Given the description of an element on the screen output the (x, y) to click on. 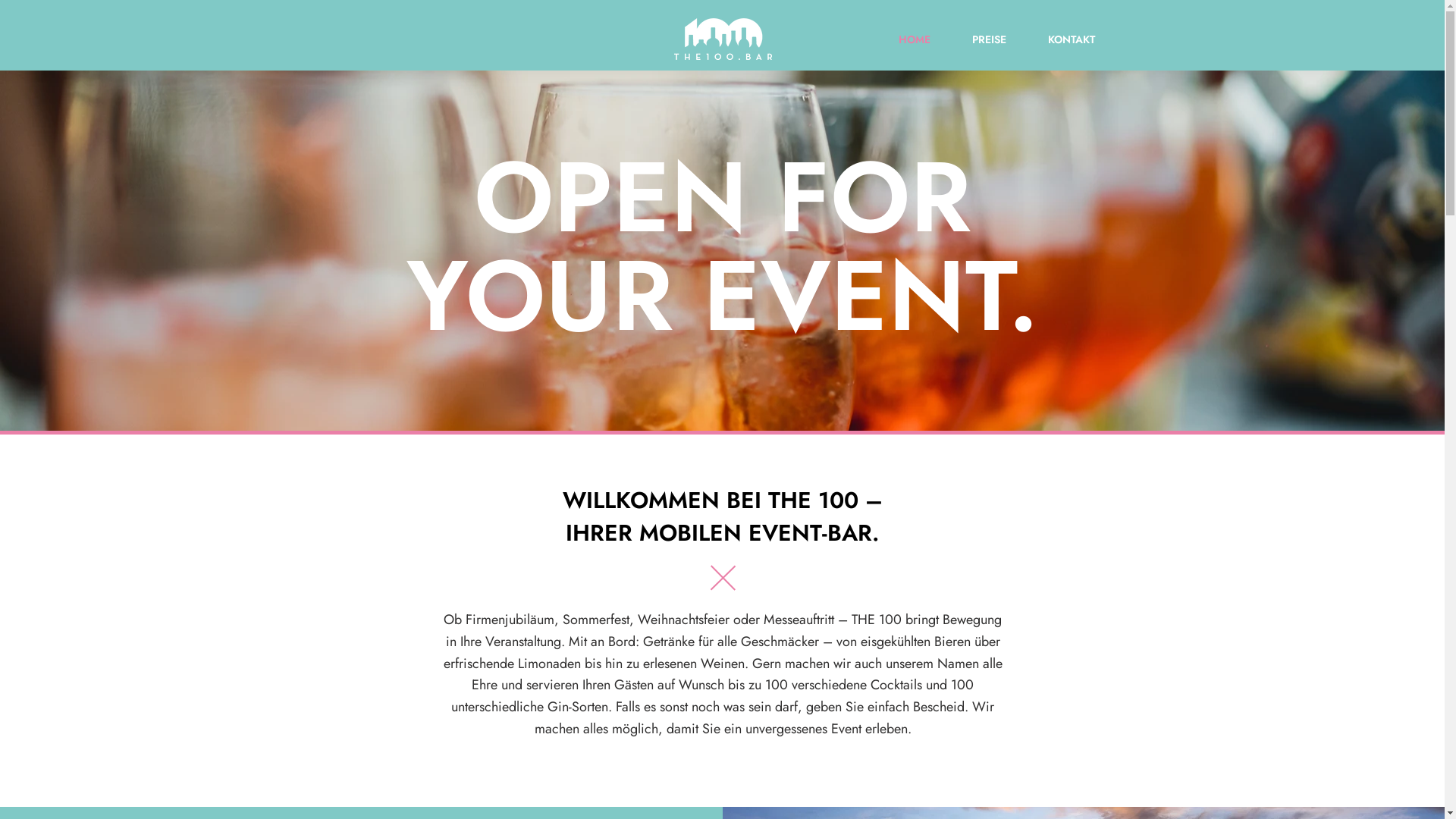
HOME Element type: text (899, 38)
KONTAKT Element type: text (1057, 38)
PREISE Element type: text (975, 38)
